Given the description of an element on the screen output the (x, y) to click on. 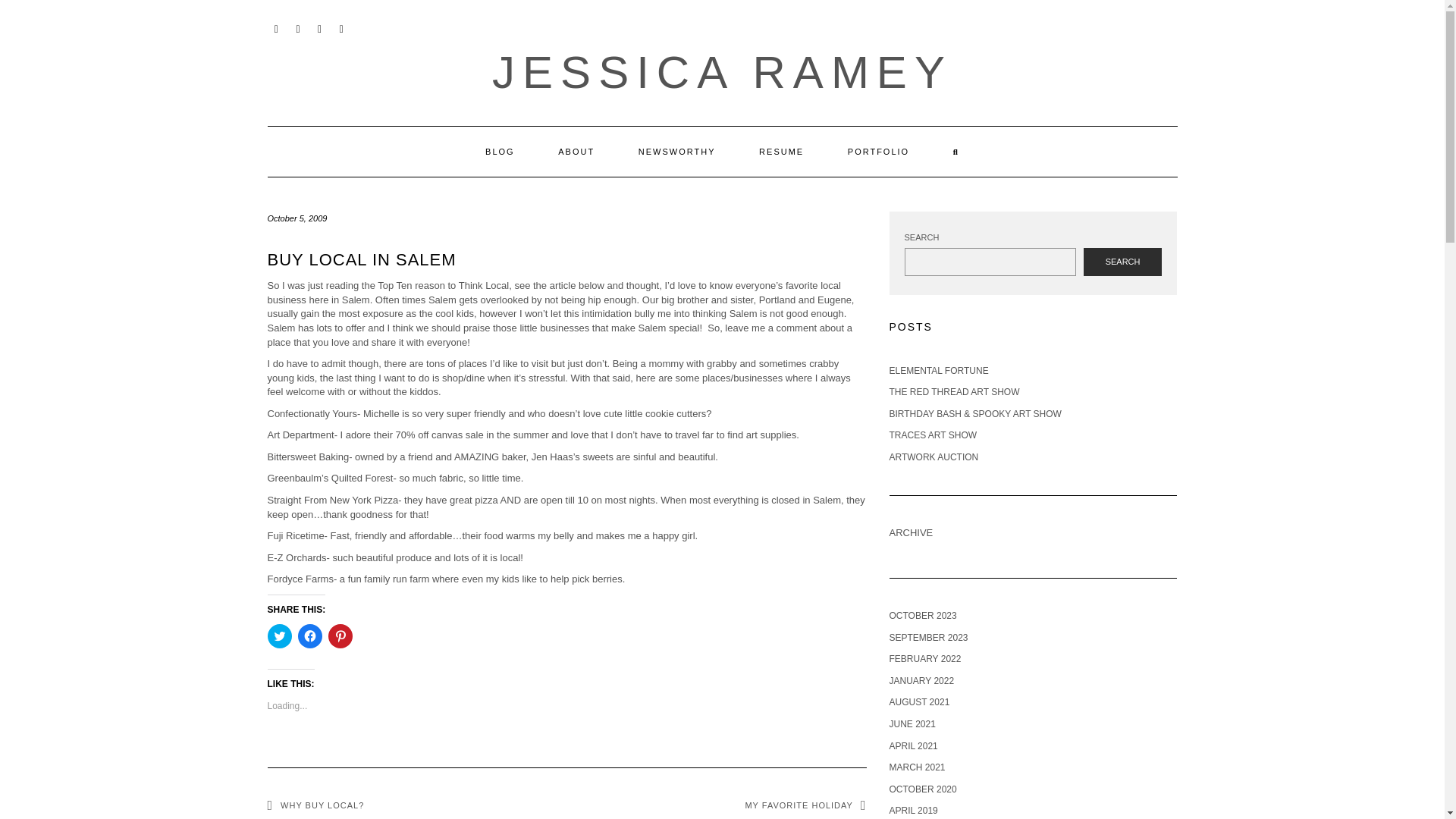
SEPTEMBER 2023 (928, 637)
WHY BUY LOCAL? (315, 804)
FEBRUARY 2022 (924, 658)
RESUME (781, 151)
PORTFOLIO (878, 151)
TRACES ART SHOW (932, 434)
NEWSWORTHY (676, 151)
ELEMENTAL FORTUNE (938, 370)
OCTOBER 2020 (922, 788)
MY FAVORITE HOLIDAY (805, 804)
Click to share on Pinterest (339, 636)
SEARCH (1122, 262)
Click to share on Twitter (278, 636)
THE RED THREAD ART SHOW (953, 391)
JUNE 2021 (911, 724)
